Given the description of an element on the screen output the (x, y) to click on. 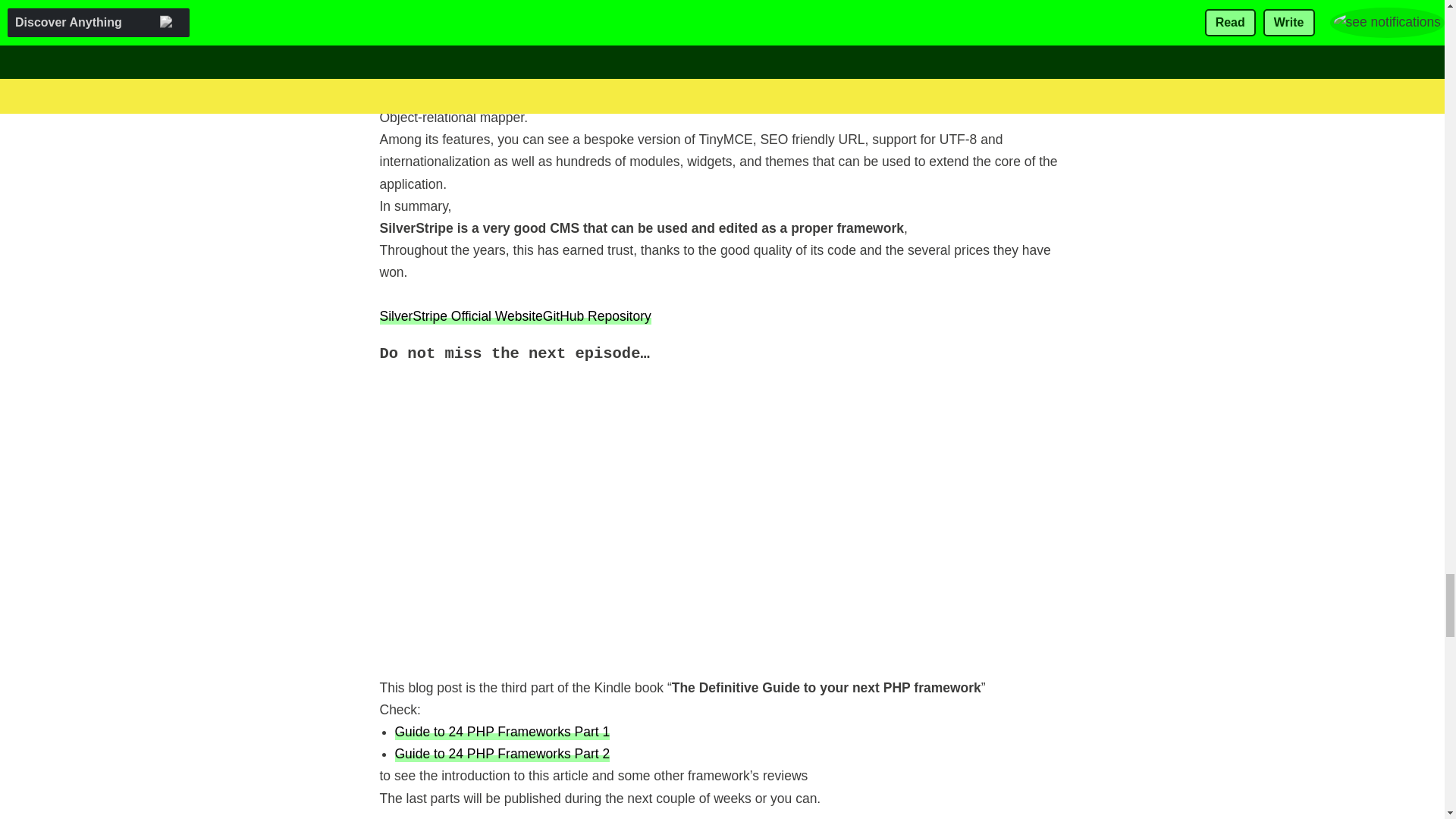
GitHub Repository (596, 315)
SilverStripe Official Website (459, 315)
Guide to 24 PHP Frameworks Part 1 (502, 731)
